Given the description of an element on the screen output the (x, y) to click on. 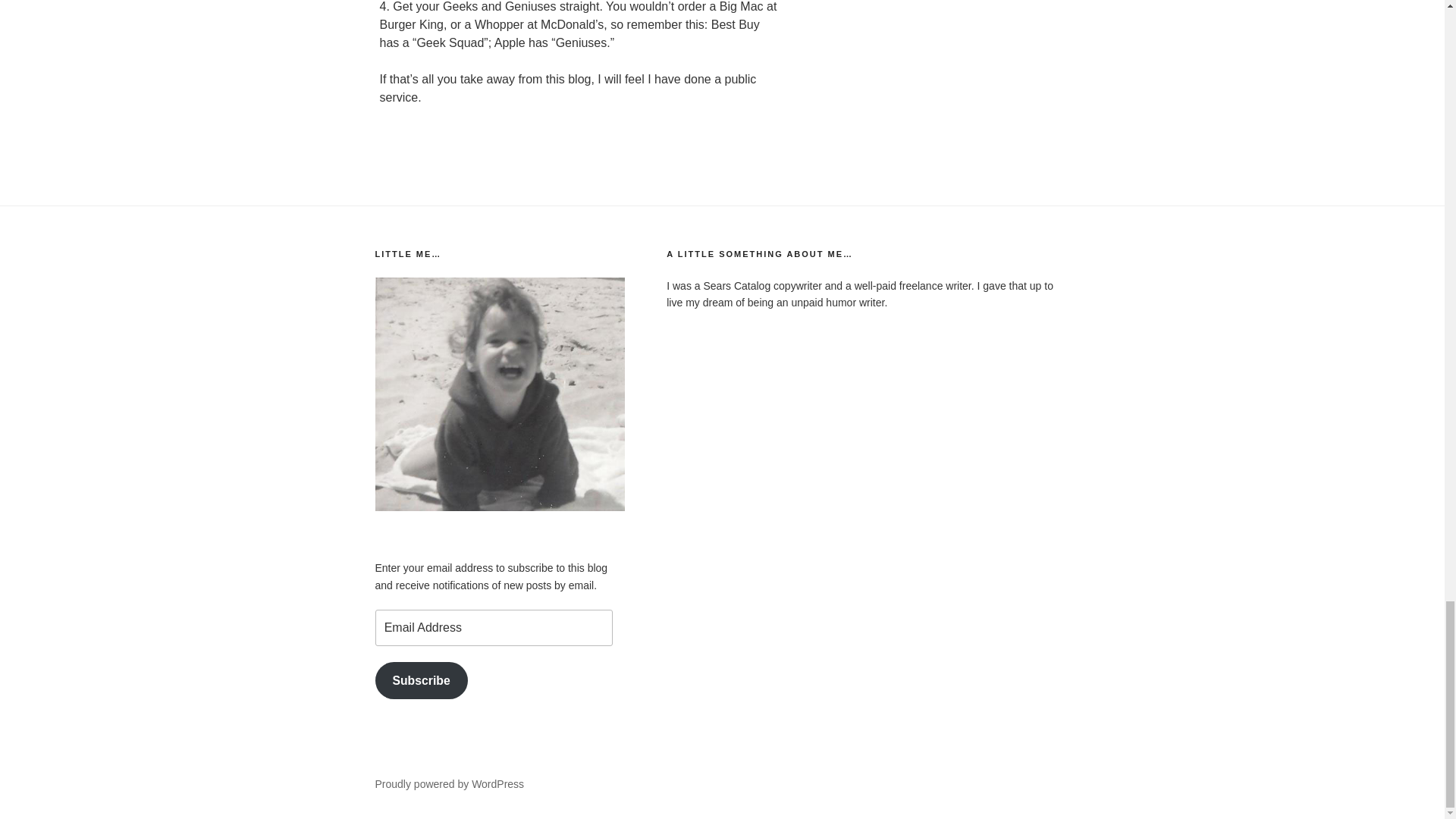
Proudly powered by WordPress (449, 784)
Subscribe (420, 680)
